Given the description of an element on the screen output the (x, y) to click on. 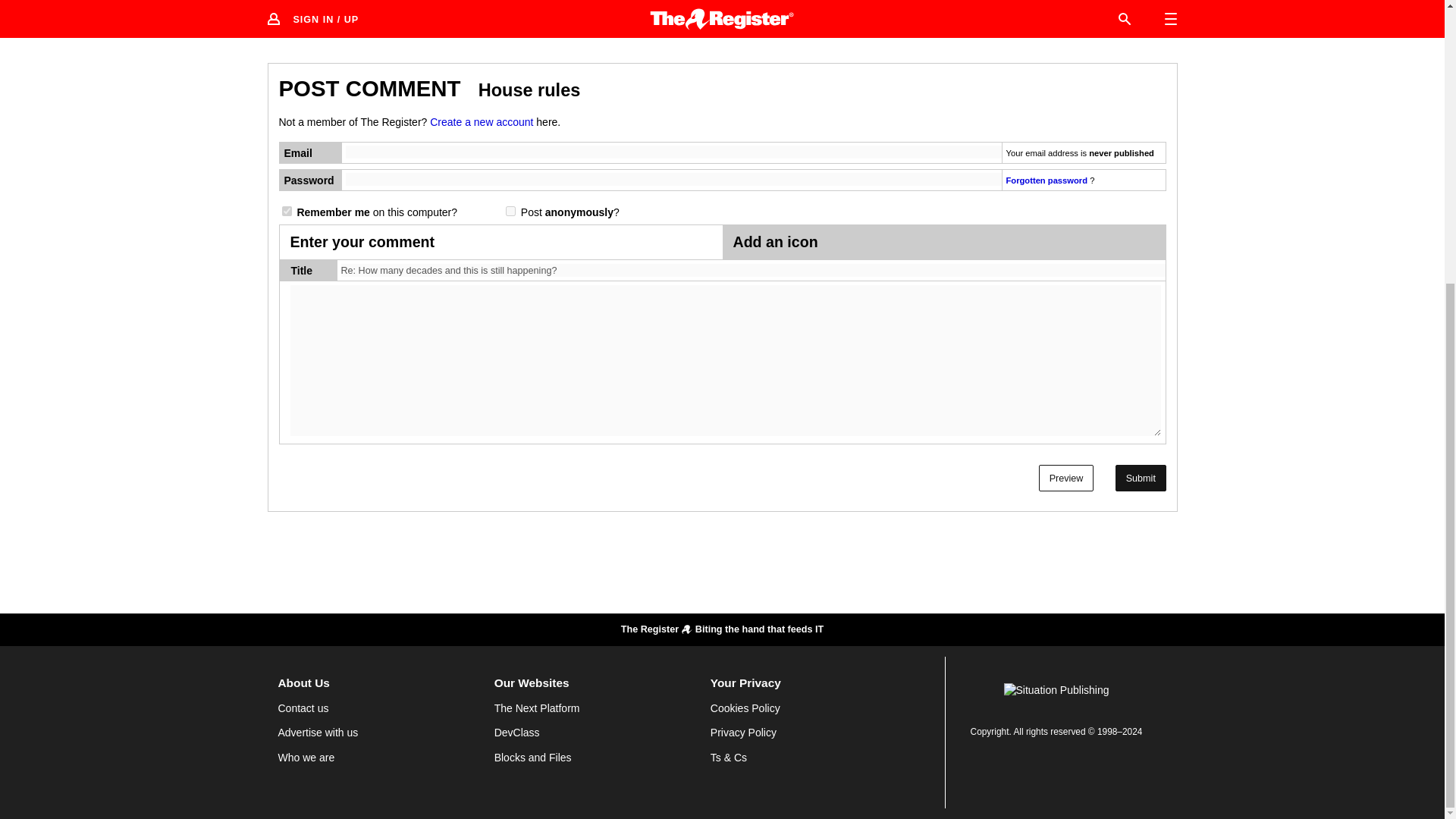
1 (287, 211)
1 (510, 211)
Re: How many decades and this is still happening? (753, 270)
Preview (1066, 478)
Submit (1140, 478)
